Given the description of an element on the screen output the (x, y) to click on. 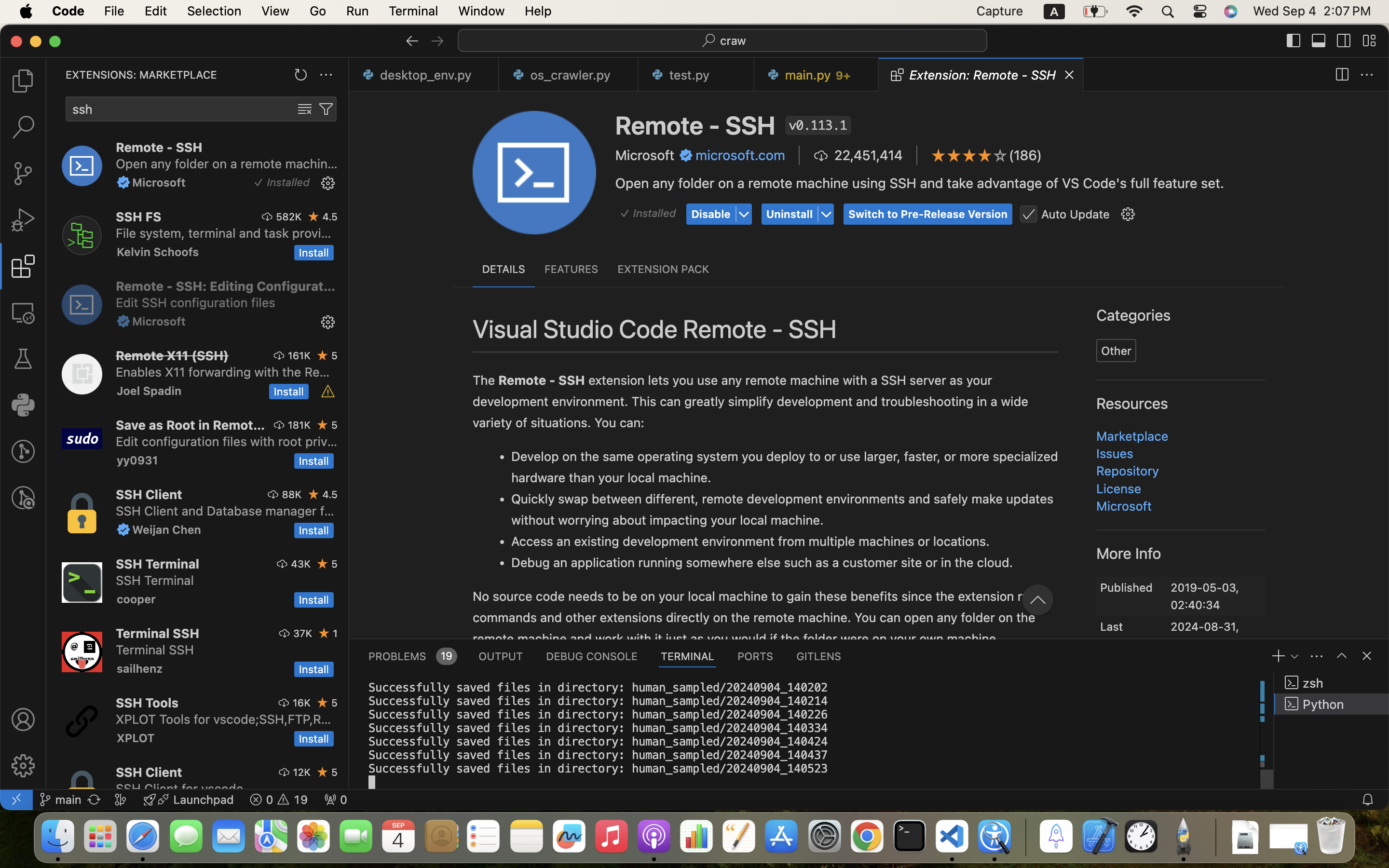
craw Element type: AXStaticText (733, 40)
0 DEBUG CONSOLE Element type: AXRadioButton (591, 655)
✓ Element type: AXStaticText (258, 182)
0  Element type: AXRadioButton (23, 127)
 Element type: AXStaticText (22, 719)
